Given the description of an element on the screen output the (x, y) to click on. 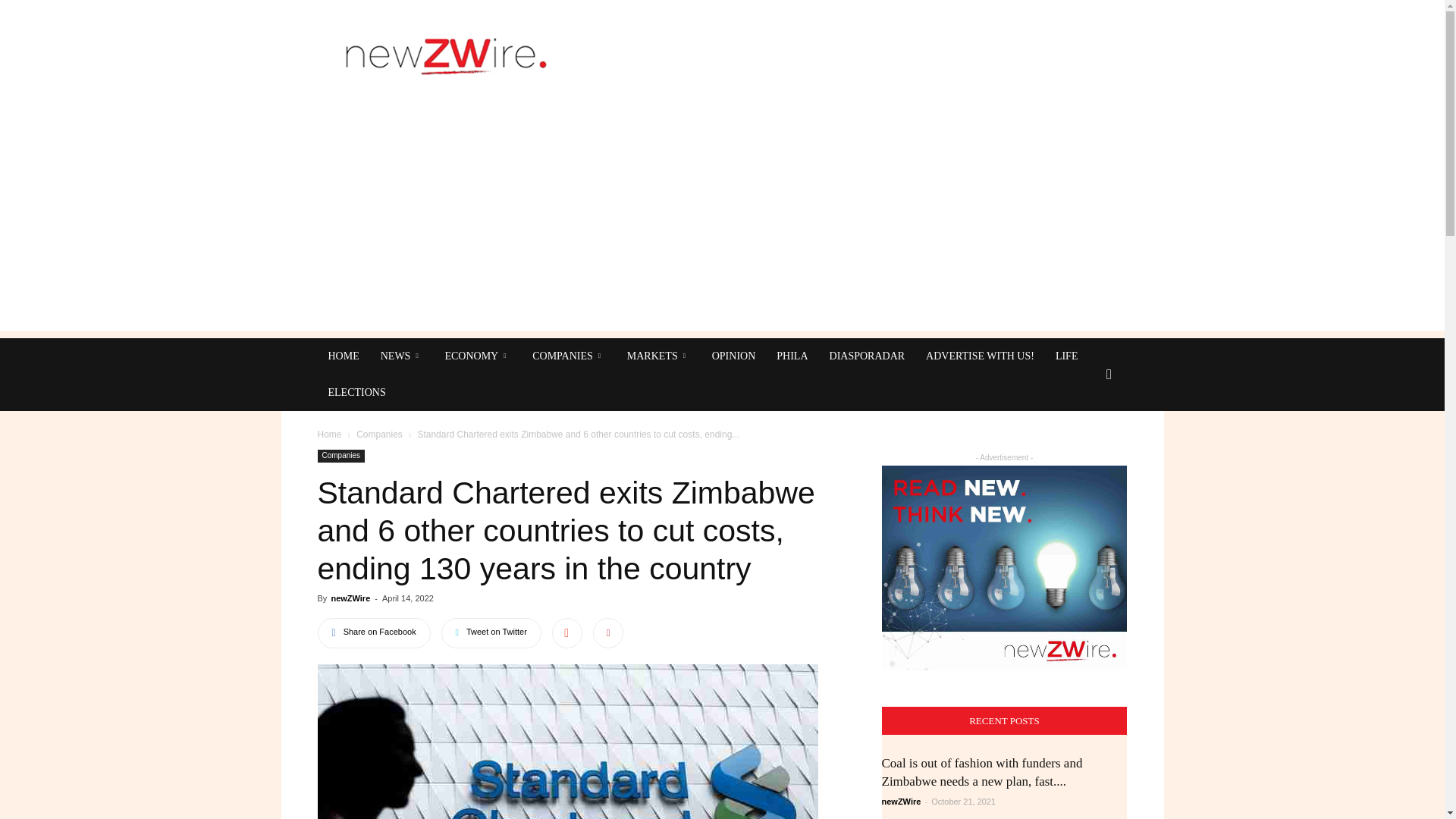
NEWS (401, 356)
HOME (343, 356)
